Given the description of an element on the screen output the (x, y) to click on. 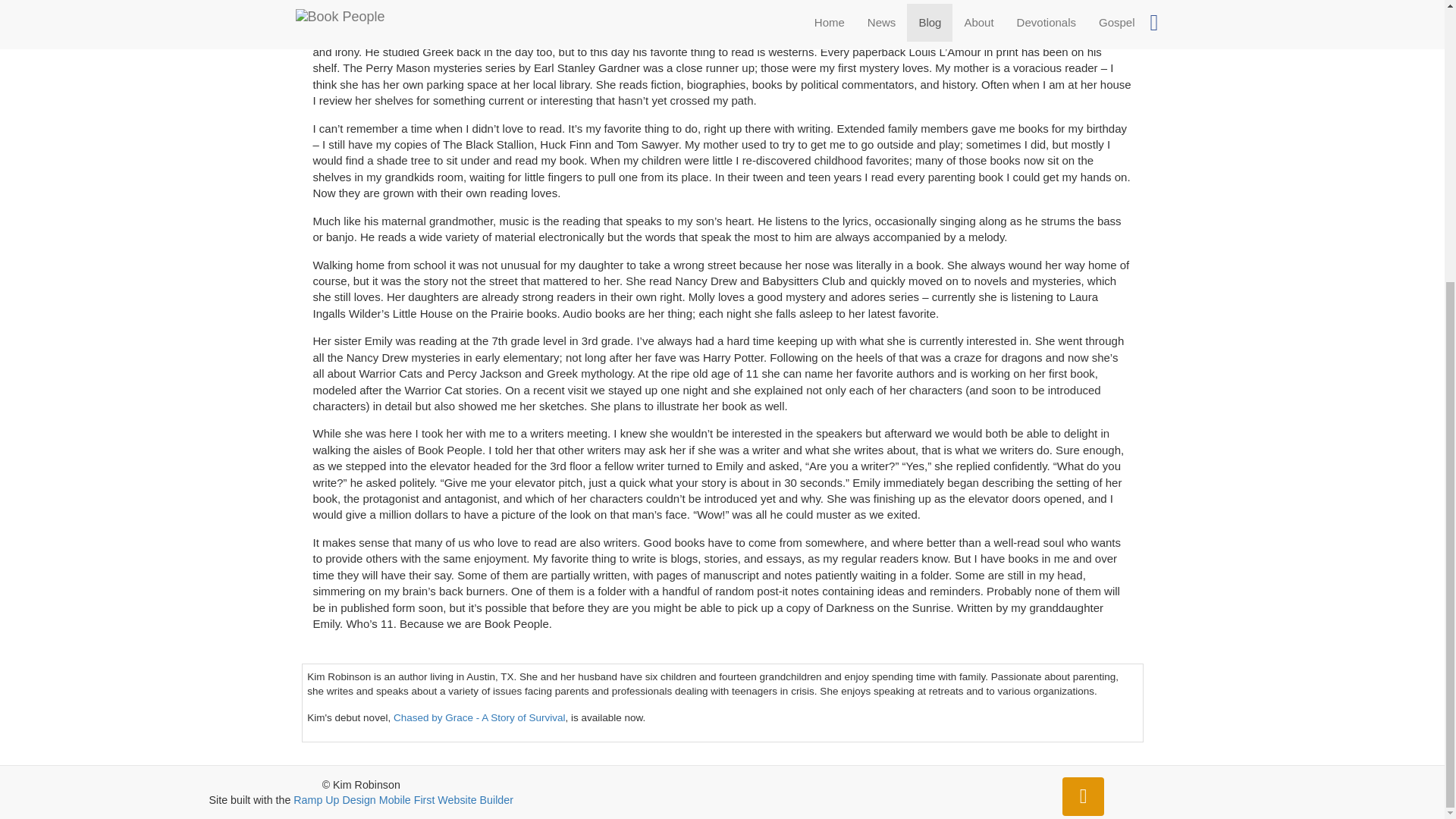
Ramp Up Design Mobile First Website Builder (403, 799)
Chased by Grace - A Story of Survival (479, 717)
